Given the description of an element on the screen output the (x, y) to click on. 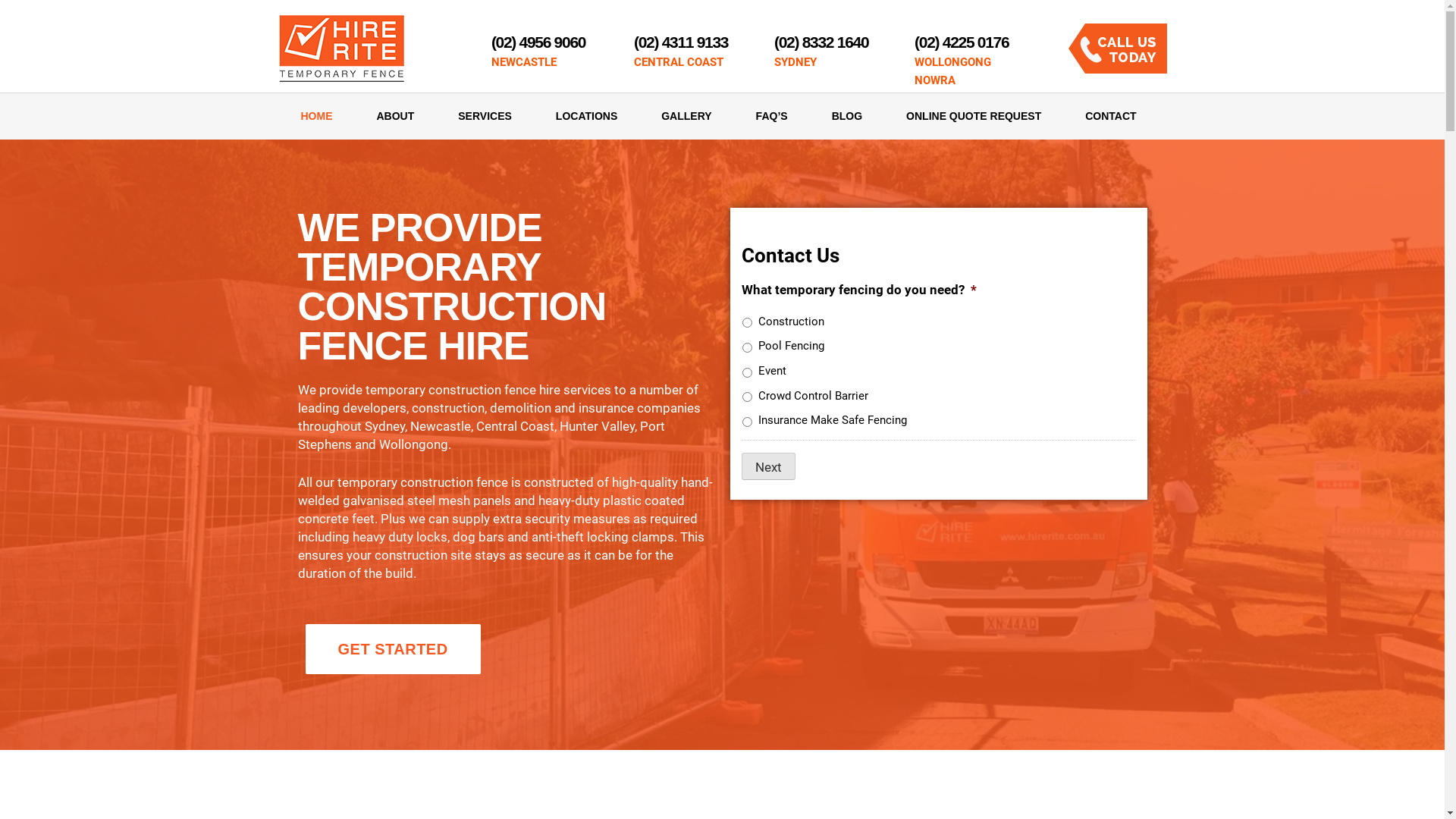
(02) 4311 9133 Element type: text (680, 41)
GALLERY Element type: text (686, 115)
(02) 8332 1640 Element type: text (821, 41)
HOME Element type: text (316, 115)
CONTACT Element type: text (1099, 115)
ONLINE QUOTE REQUEST Element type: text (973, 115)
SERVICES Element type: text (484, 115)
HOME Element type: text (316, 115)
(02) 4225 0176 Element type: text (961, 41)
ABOUT Element type: text (395, 115)
(02) 4956 9060 Element type: text (538, 41)
BLOG Element type: text (846, 115)
LOCATIONS Element type: text (586, 115)
GET STARTED Element type: text (392, 649)
Next Element type: text (768, 466)
